Given the description of an element on the screen output the (x, y) to click on. 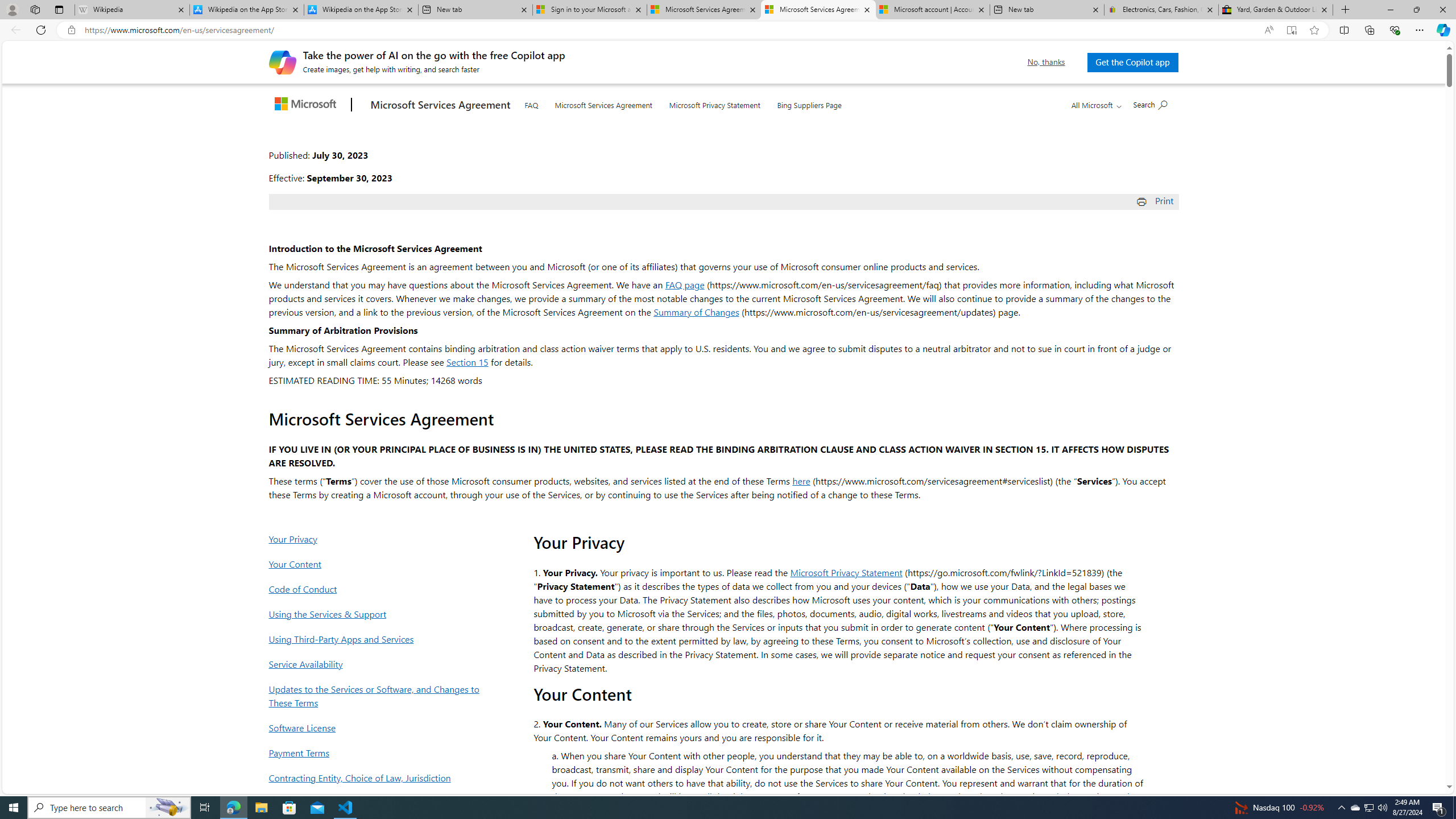
Microsoft Privacy Statement (846, 571)
Enter Immersive Reader (F9) (1291, 29)
Using the Services & Support (376, 613)
Code of Conduct (376, 588)
No, thanks (1045, 62)
Summary of Changes (696, 311)
FAQ page (684, 284)
Microsoft Privacy Statement (714, 103)
Bing Suppliers Page (809, 103)
